Given the description of an element on the screen output the (x, y) to click on. 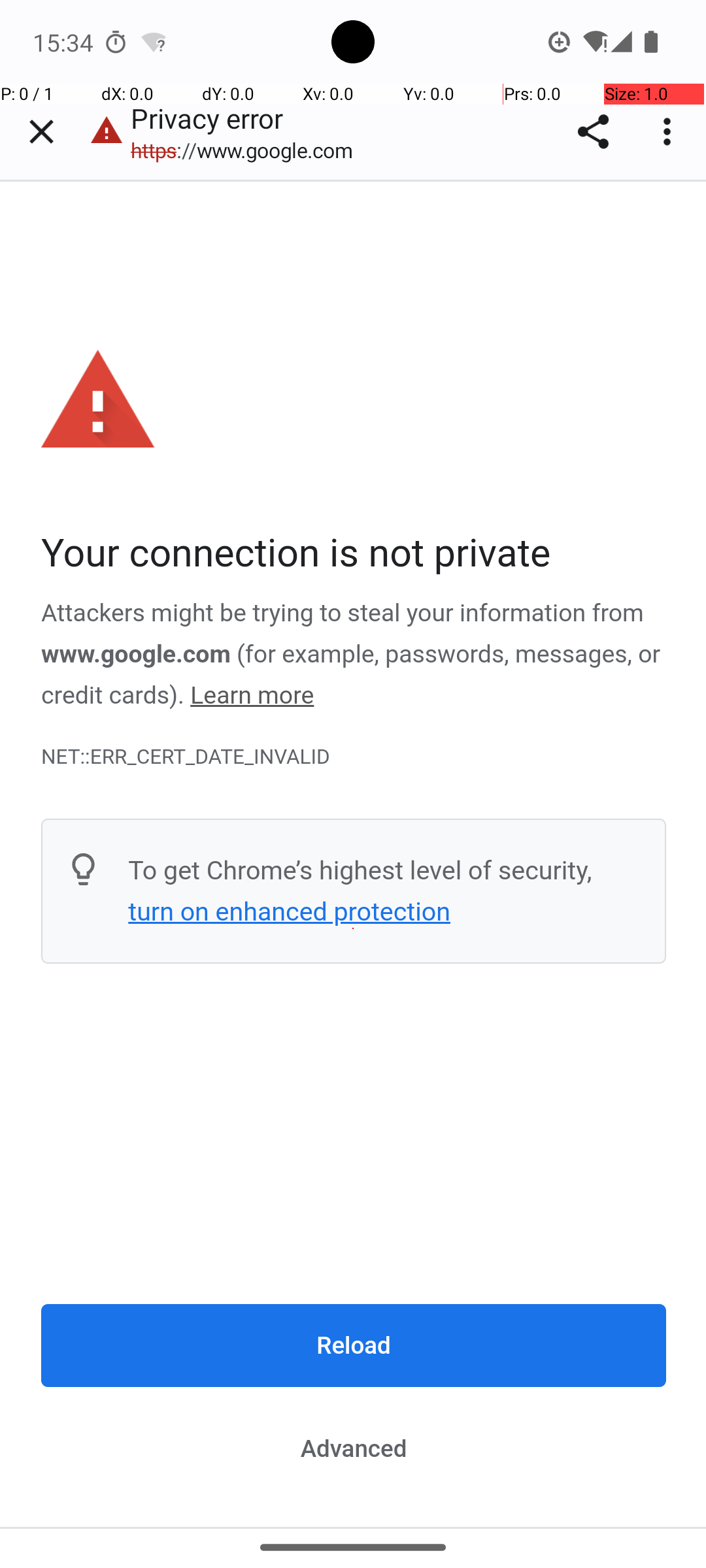
https://www.google.com Element type: android.widget.TextView (248, 149)
www.google.com Element type: android.widget.TextView (136, 653)
